Given the description of an element on the screen output the (x, y) to click on. 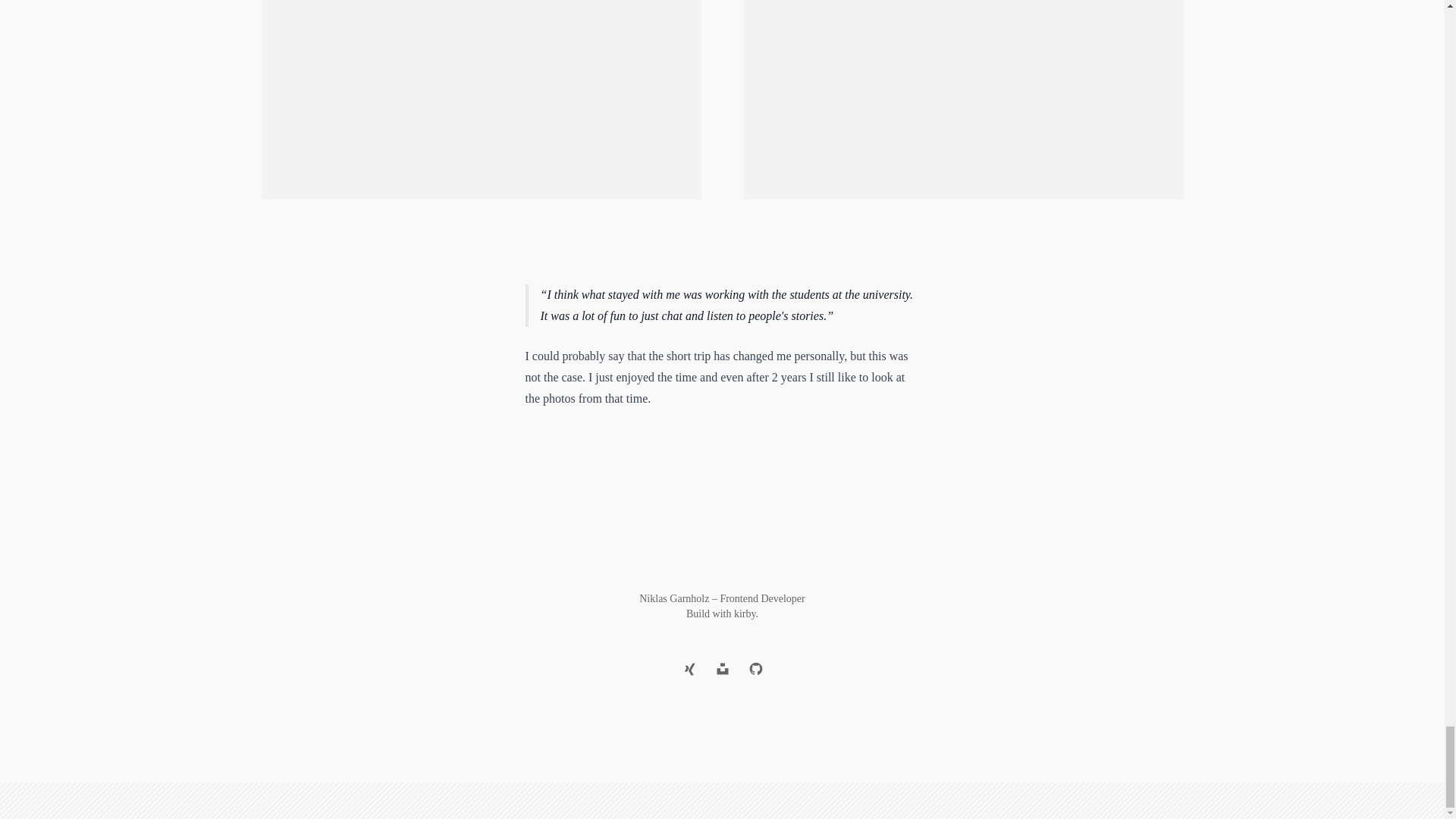
Go to Unsplash (721, 668)
Get kirby (744, 613)
Go to Github (754, 668)
Go to Xing (687, 668)
kirby (744, 613)
